Given the description of an element on the screen output the (x, y) to click on. 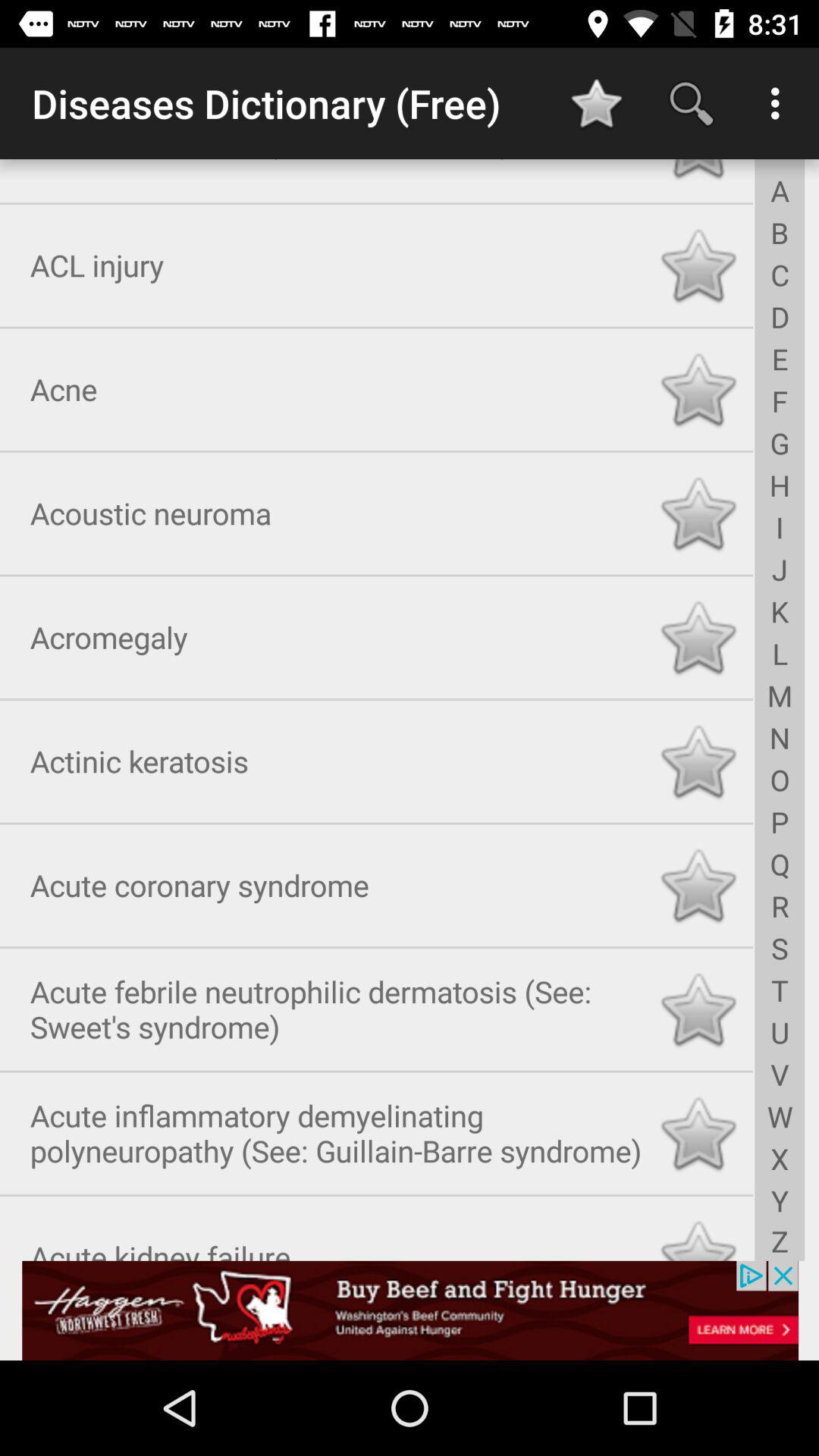
shows the favourite option (697, 758)
